Given the description of an element on the screen output the (x, y) to click on. 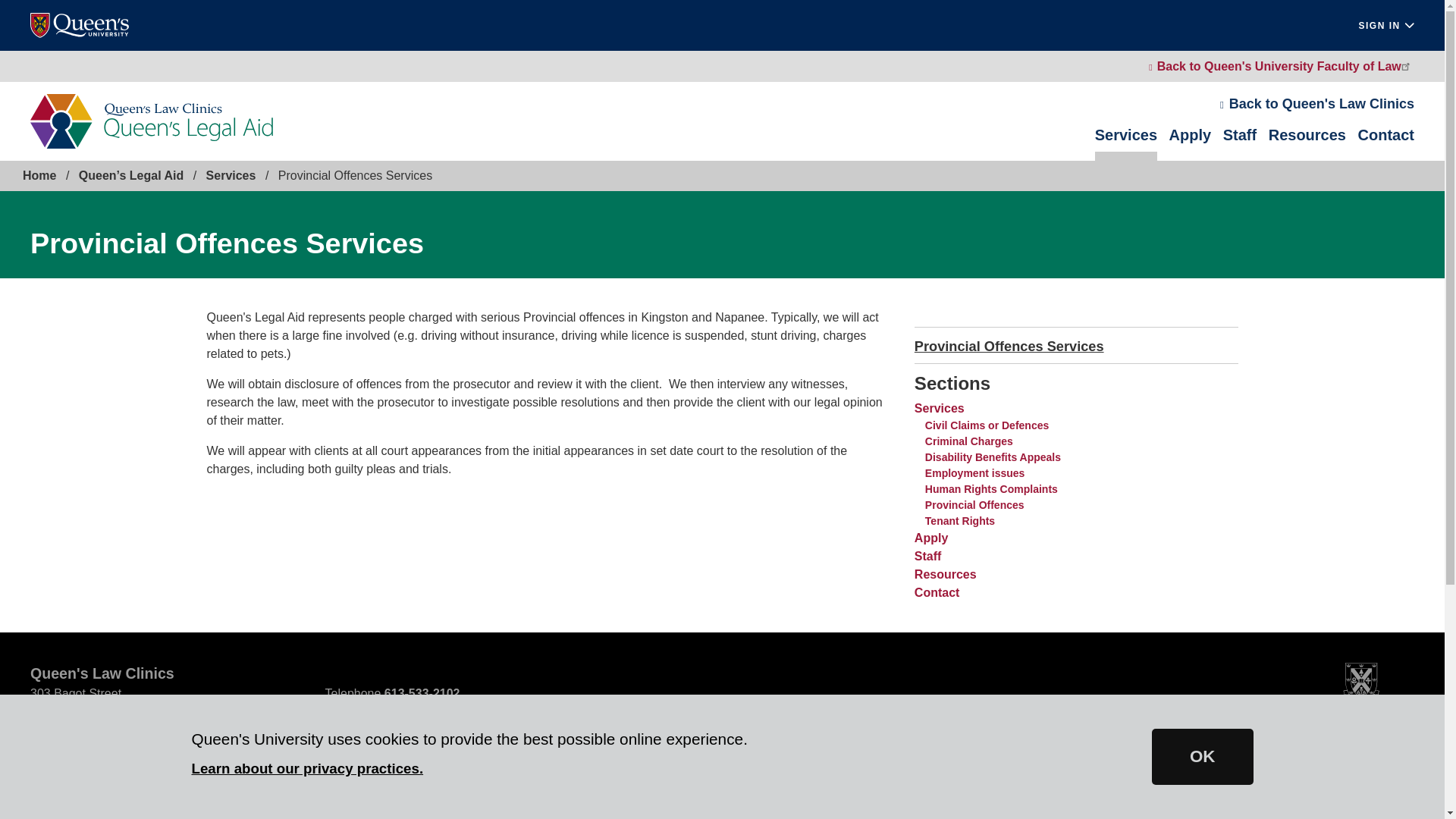
SIGN IN (1385, 25)
Resources (1306, 143)
Staff (1239, 143)
Apply (1190, 143)
Back to Queen's Law Clinics (1316, 103)
Contact (1385, 143)
Services (1125, 143)
